Given the description of an element on the screen output the (x, y) to click on. 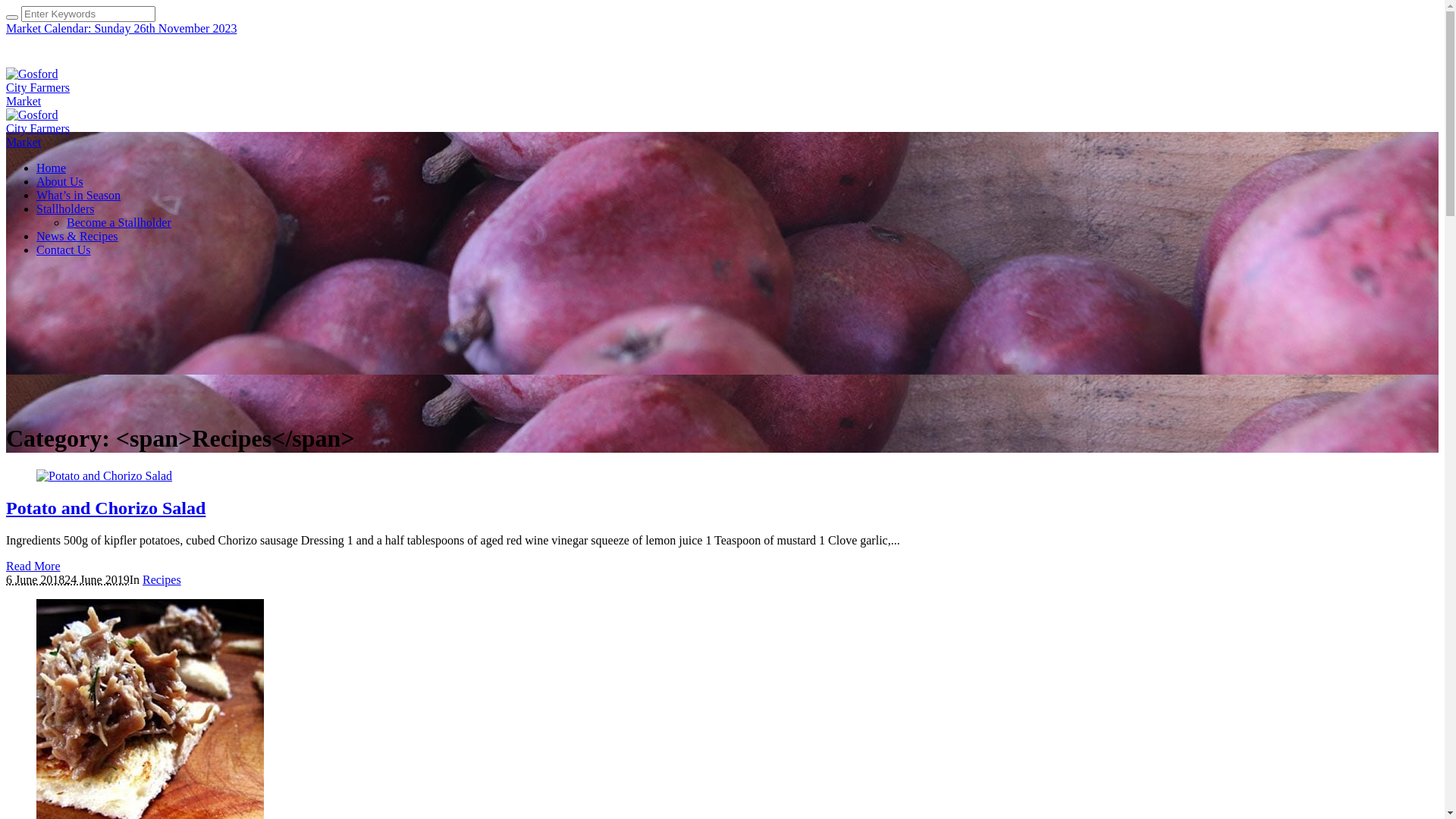
Stallholders Element type: text (65, 208)
News & Recipes Element type: text (77, 235)
Recipes Element type: text (161, 579)
RecipeImage_PotatoAndChorizo Element type: hover (104, 476)
Contact Us Element type: text (63, 249)
Potato and Chorizo Salad Element type: text (105, 507)
About Us Element type: text (59, 181)
Become a Stallholder Element type: text (118, 222)
Gosford City Farmers Market Element type: hover (38, 121)
Potato and Chorizo Salad Element type: hover (104, 475)
Read More Element type: text (33, 565)
Market Calendar: Sunday 26th November 2023 Element type: text (121, 27)
Home Element type: text (50, 167)
